Given the description of an element on the screen output the (x, y) to click on. 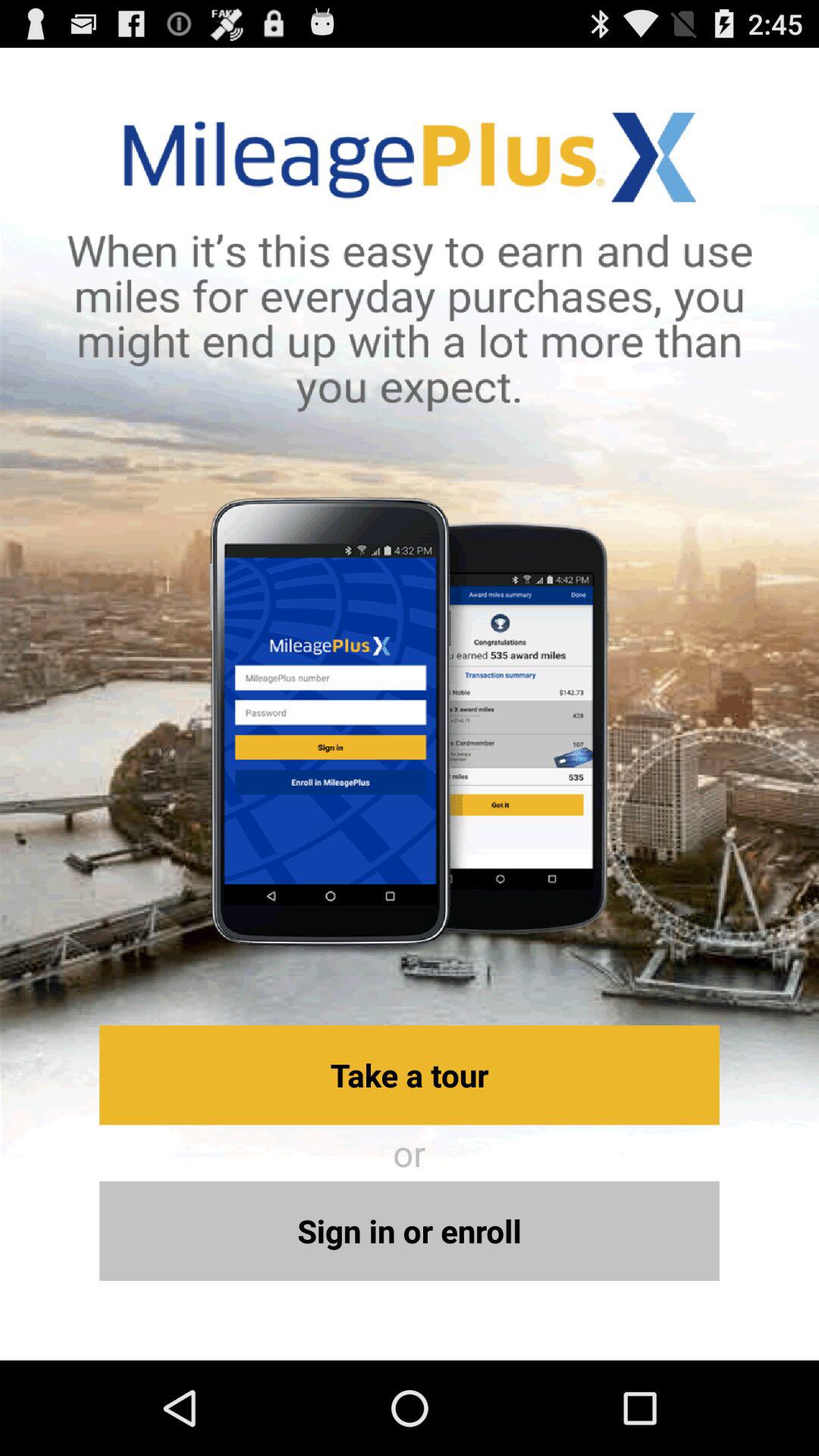
flip to the take a tour button (409, 1074)
